Given the description of an element on the screen output the (x, y) to click on. 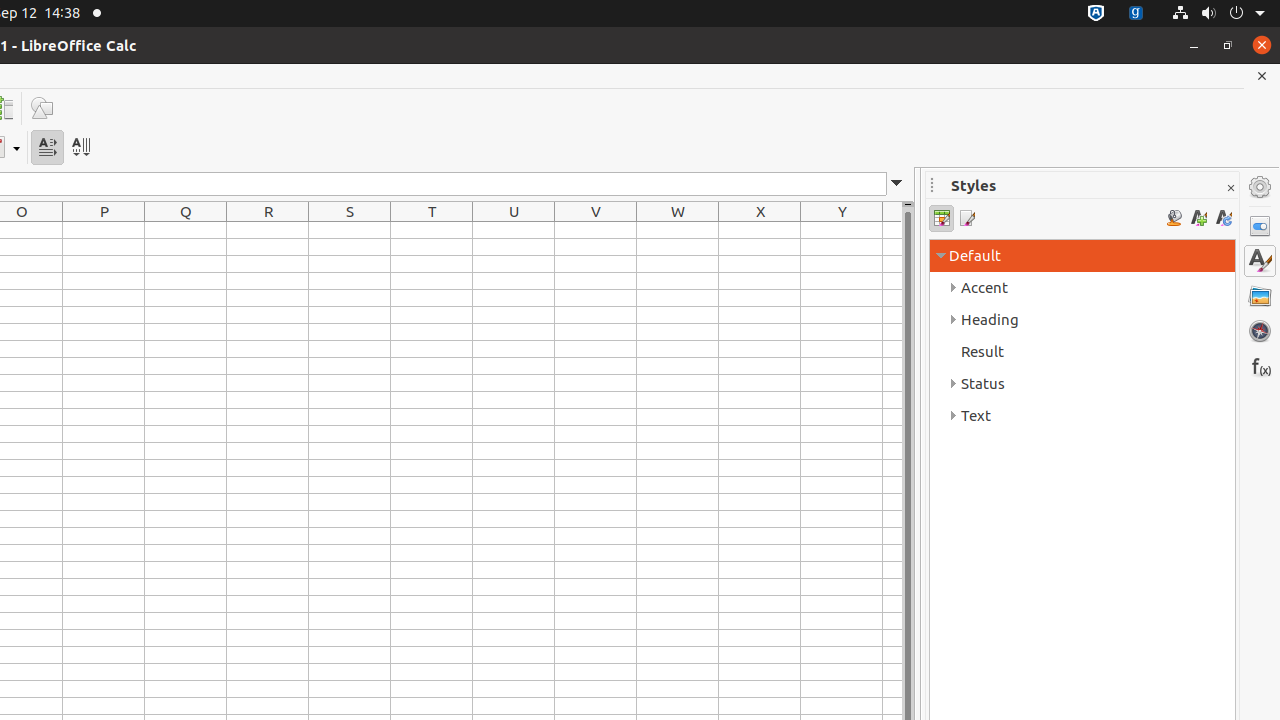
:1.21/StatusNotifierItem Element type: menu (1136, 13)
Text direction from left to right Element type: toggle-button (47, 147)
S1 Element type: table-cell (350, 230)
Navigator Element type: radio-button (1260, 331)
Styles Element type: radio-button (1260, 261)
